Given the description of an element on the screen output the (x, y) to click on. 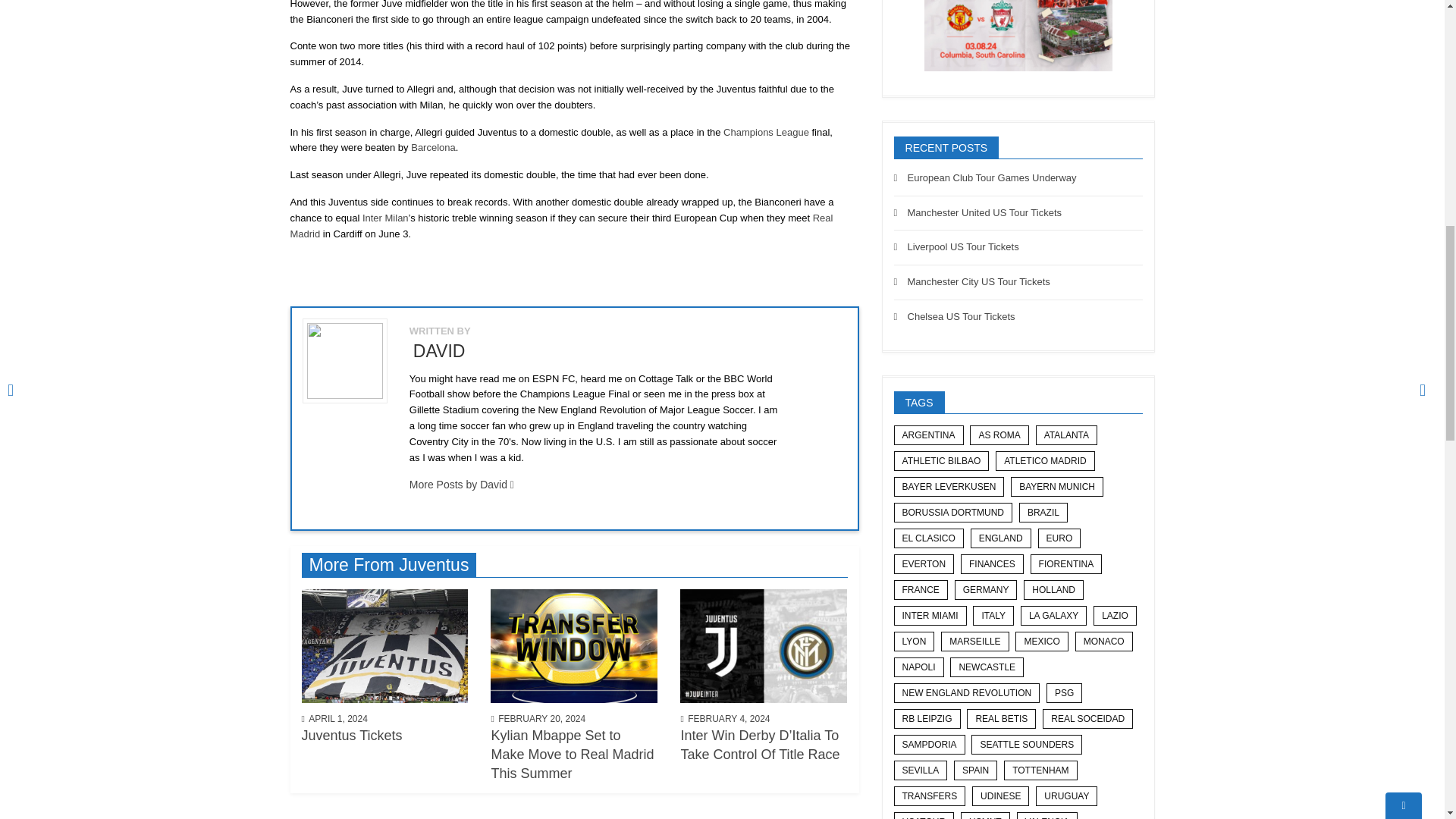
Juventus Tickets (384, 644)
Barcelona (432, 147)
Inter Milan (385, 217)
Champions League (766, 132)
Real Madrid (560, 225)
Kylian Mbappe Set to Make Move to Real Madrid This Summer (574, 644)
